Given the description of an element on the screen output the (x, y) to click on. 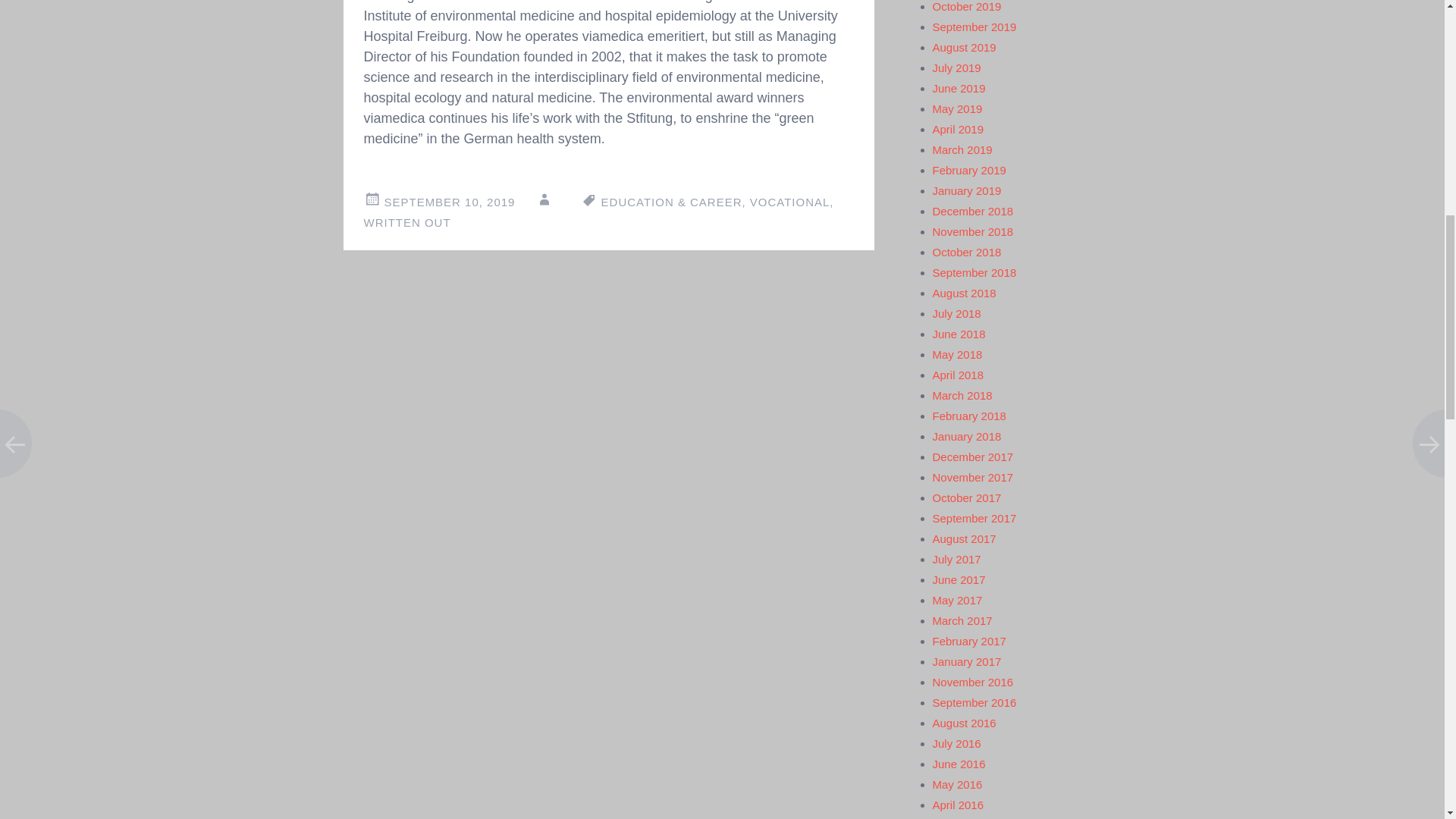
WRITTEN OUT (407, 222)
SEPTEMBER 10, 2019 (449, 201)
11:11 am (449, 201)
VOCATIONAL (789, 201)
